Given the description of an element on the screen output the (x, y) to click on. 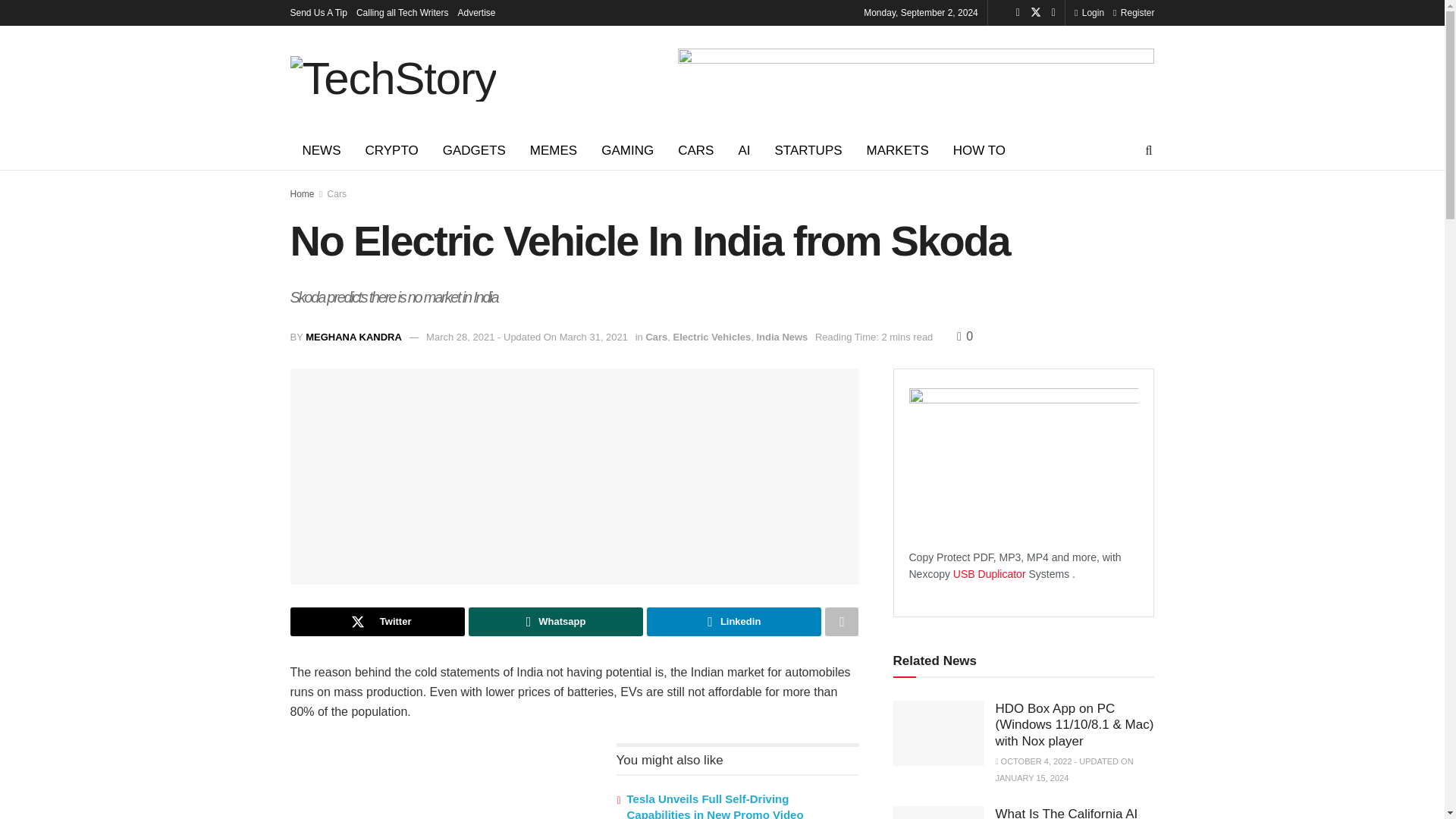
Send Us A Tip (317, 12)
STARTUPS (807, 150)
GAMING (627, 150)
NEWS (320, 150)
HOW TO (978, 150)
AI (743, 150)
CRYPTO (391, 150)
GADGETS (474, 150)
Calling all Tech Writers (402, 12)
USB duplicator (989, 573)
